Given the description of an element on the screen output the (x, y) to click on. 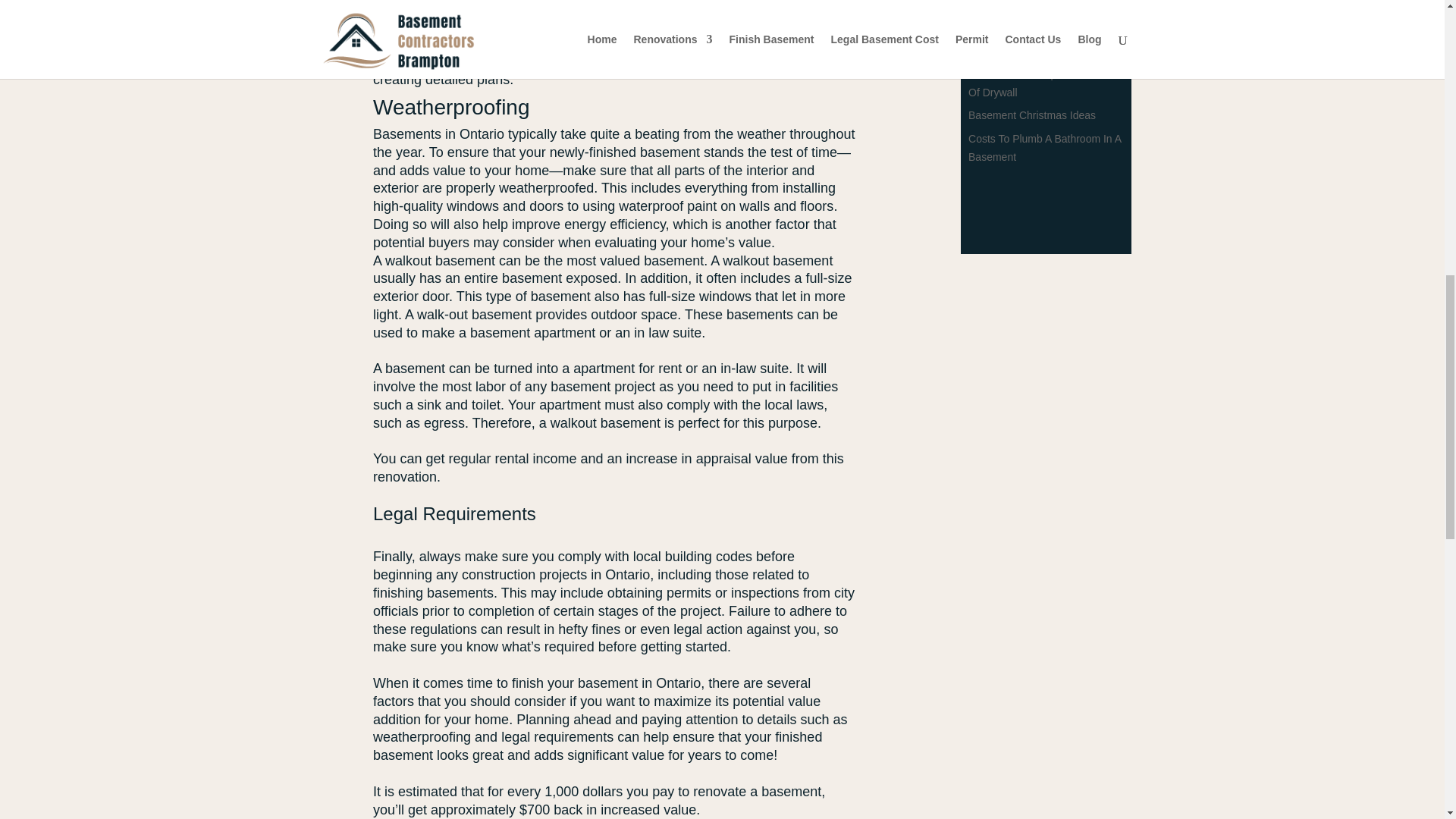
Installing Shower Drain In Basement Floor (1028, 41)
Basement Christmas Ideas (1032, 114)
Costs To Plumb A Bathroom In A Basement (1044, 147)
How To Seal A Basement Crack (1043, 9)
Basement Wall Options Instead Of Drywall (1042, 82)
